Given the description of an element on the screen output the (x, y) to click on. 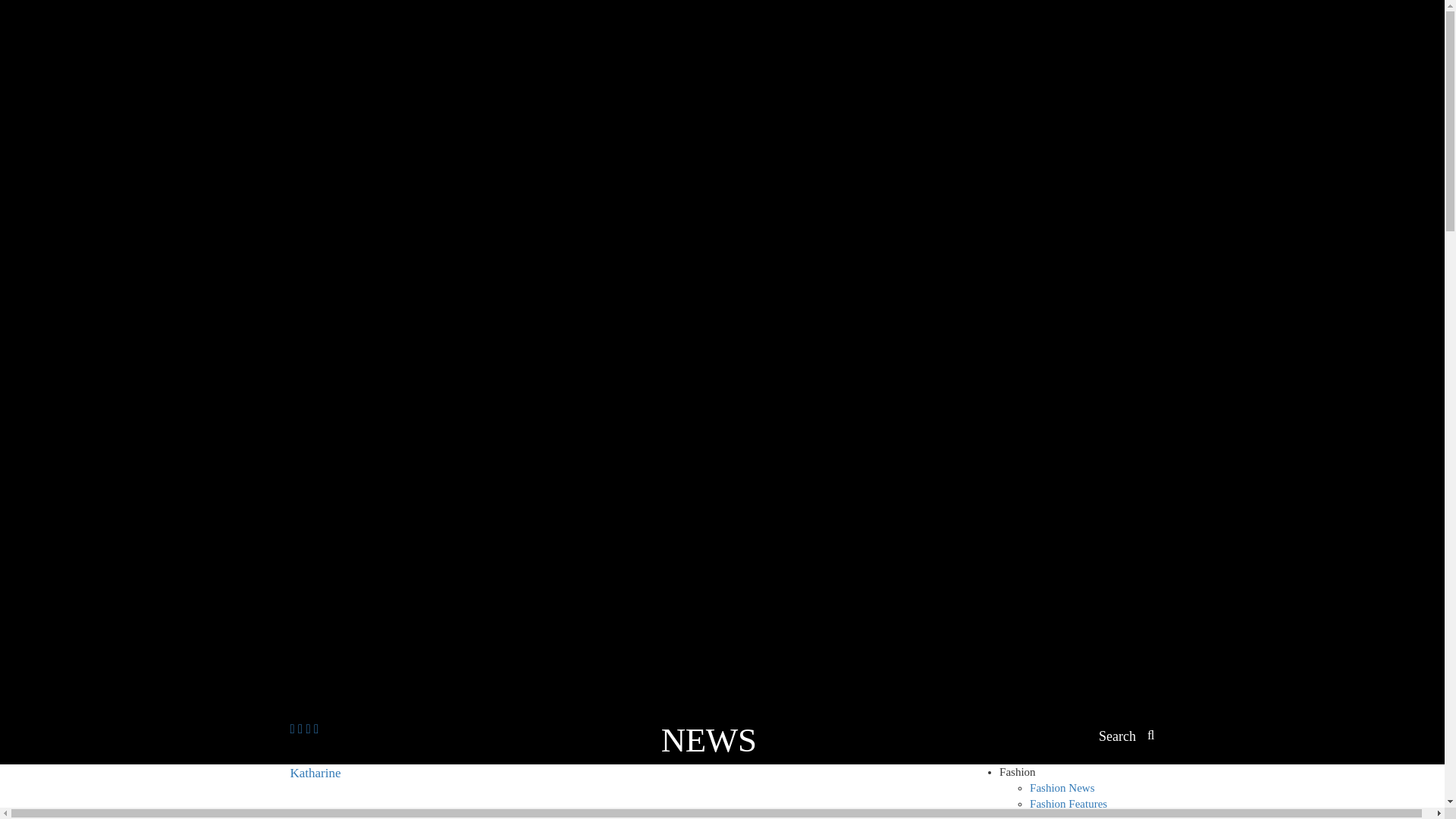
Katharine (342, 791)
Fashion (1016, 771)
Fashion Features (1067, 803)
Fashion News (1061, 787)
iFashion Network (342, 791)
Search (1126, 737)
